Given the description of an element on the screen output the (x, y) to click on. 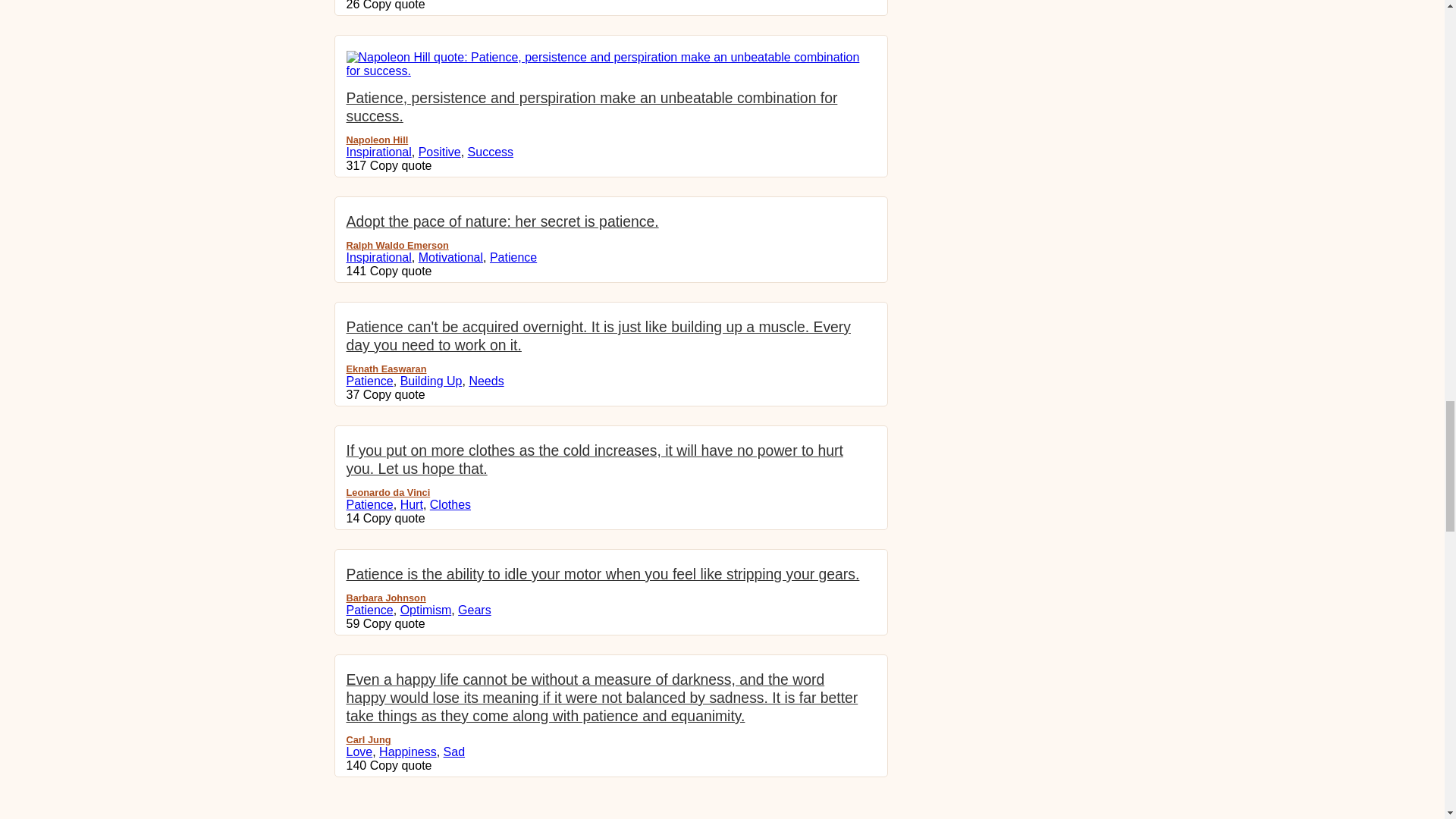
Quote is copied (400, 164)
Quote is copied (393, 5)
